Given the description of an element on the screen output the (x, y) to click on. 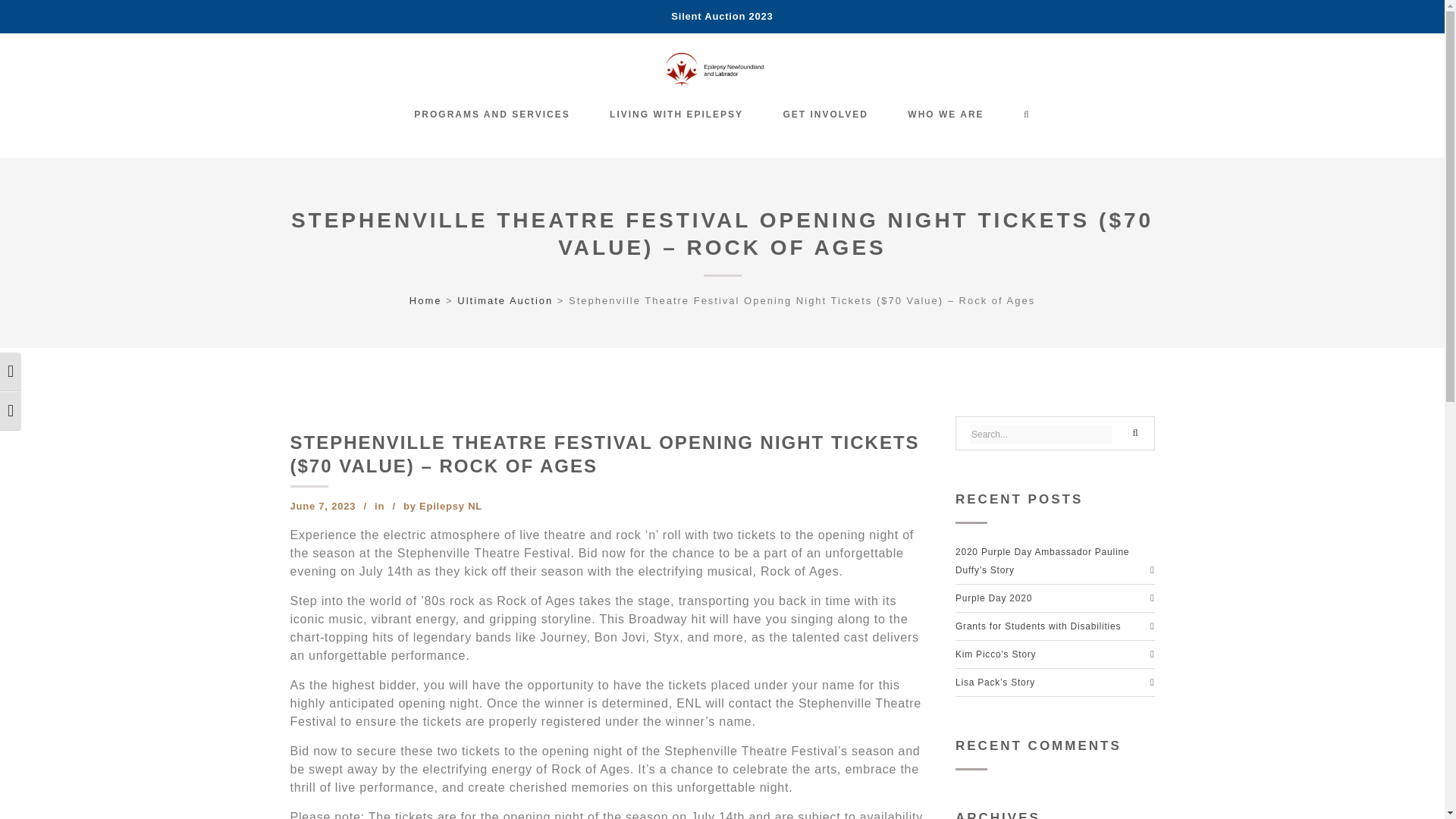
LIVING WITH EPILEPSY (676, 114)
PROGRAMS AND SERVICES (492, 114)
Search... (1040, 434)
